Given the description of an element on the screen output the (x, y) to click on. 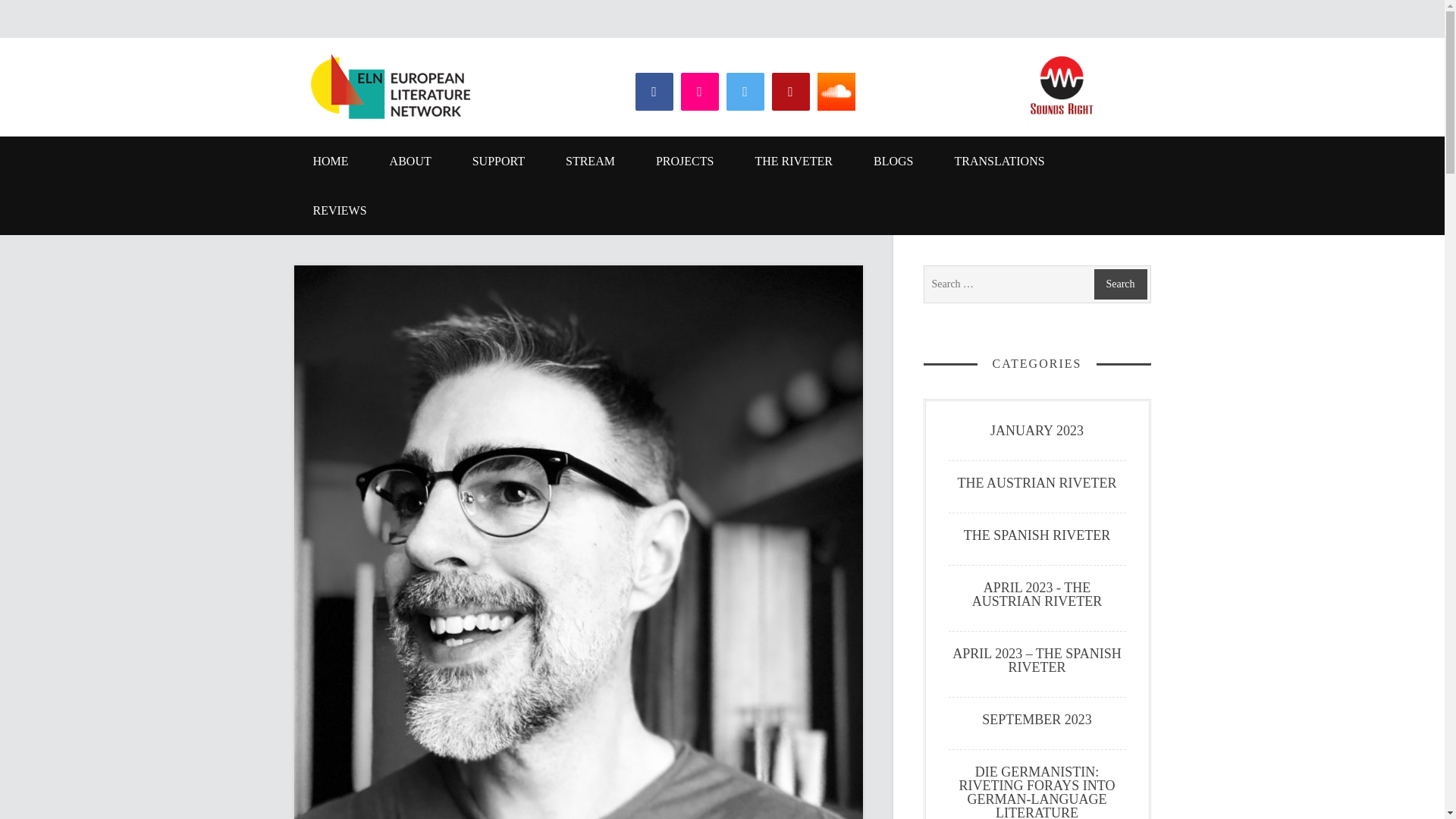
SUPPORT (497, 160)
Search (1120, 284)
HOME (331, 160)
ABOUT (410, 160)
STREAM (590, 160)
Search (1120, 284)
